Given the description of an element on the screen output the (x, y) to click on. 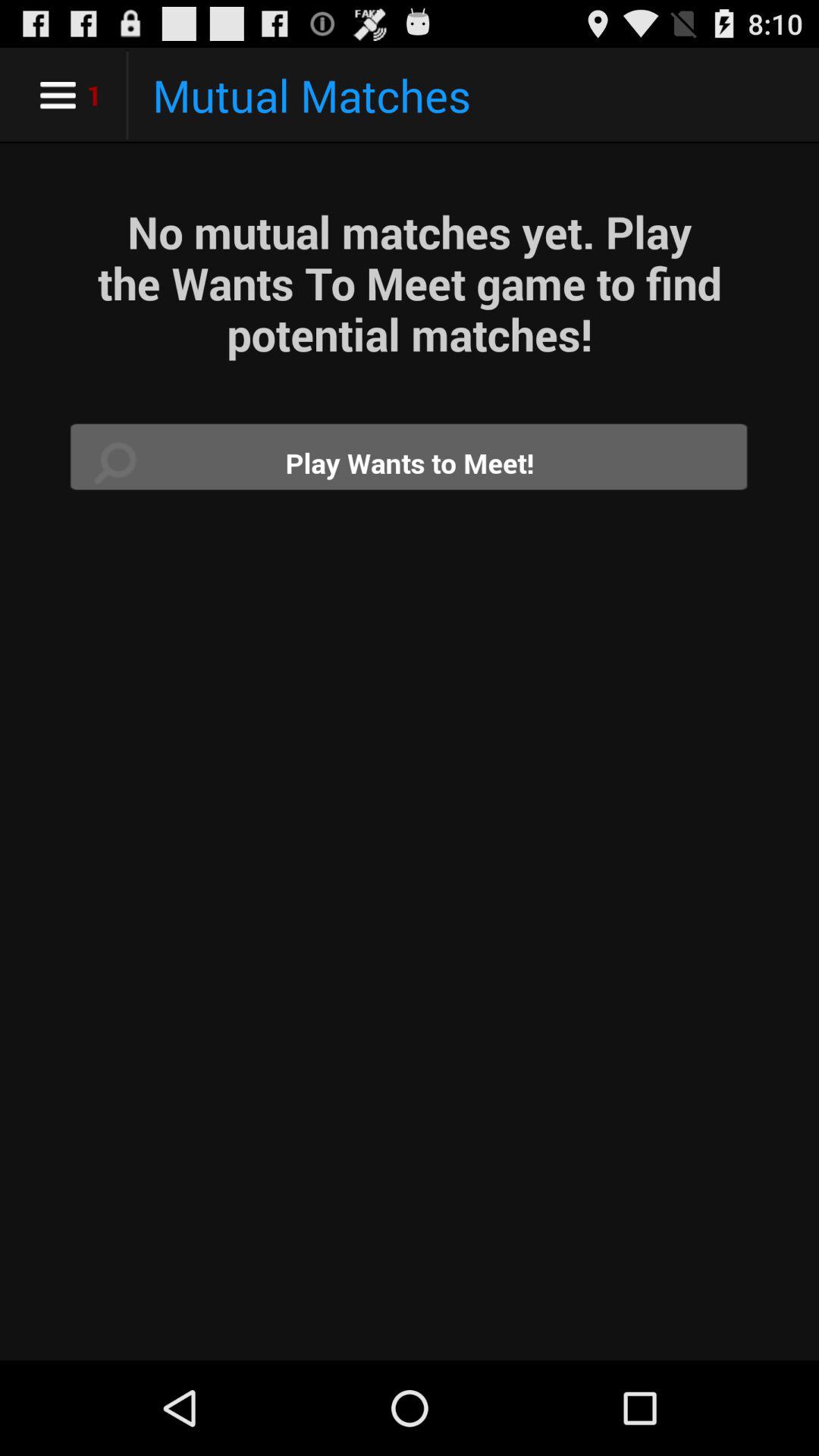
play wants to meet (409, 462)
